Given the description of an element on the screen output the (x, y) to click on. 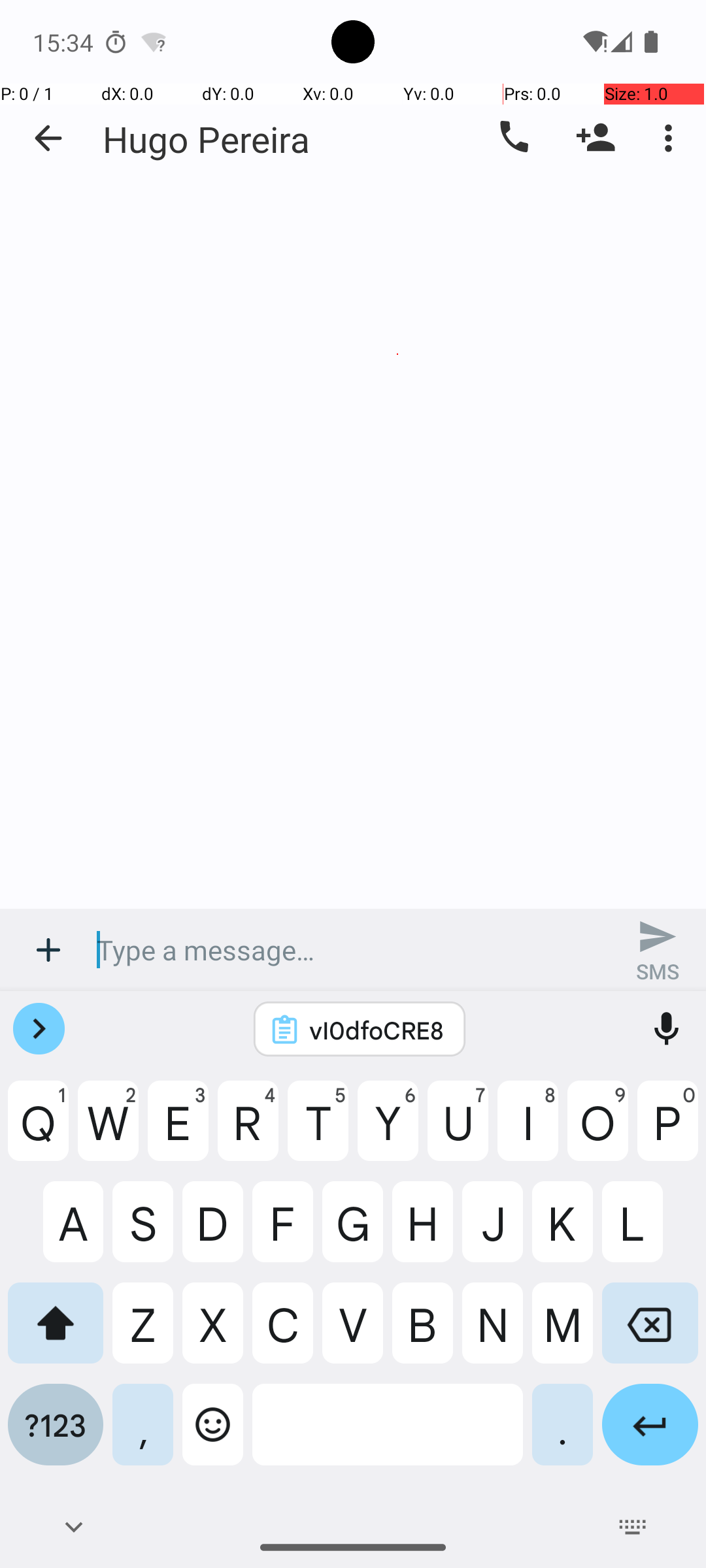
vI0dfoCRE8 Element type: android.widget.TextView (376, 1029)
